Given the description of an element on the screen output the (x, y) to click on. 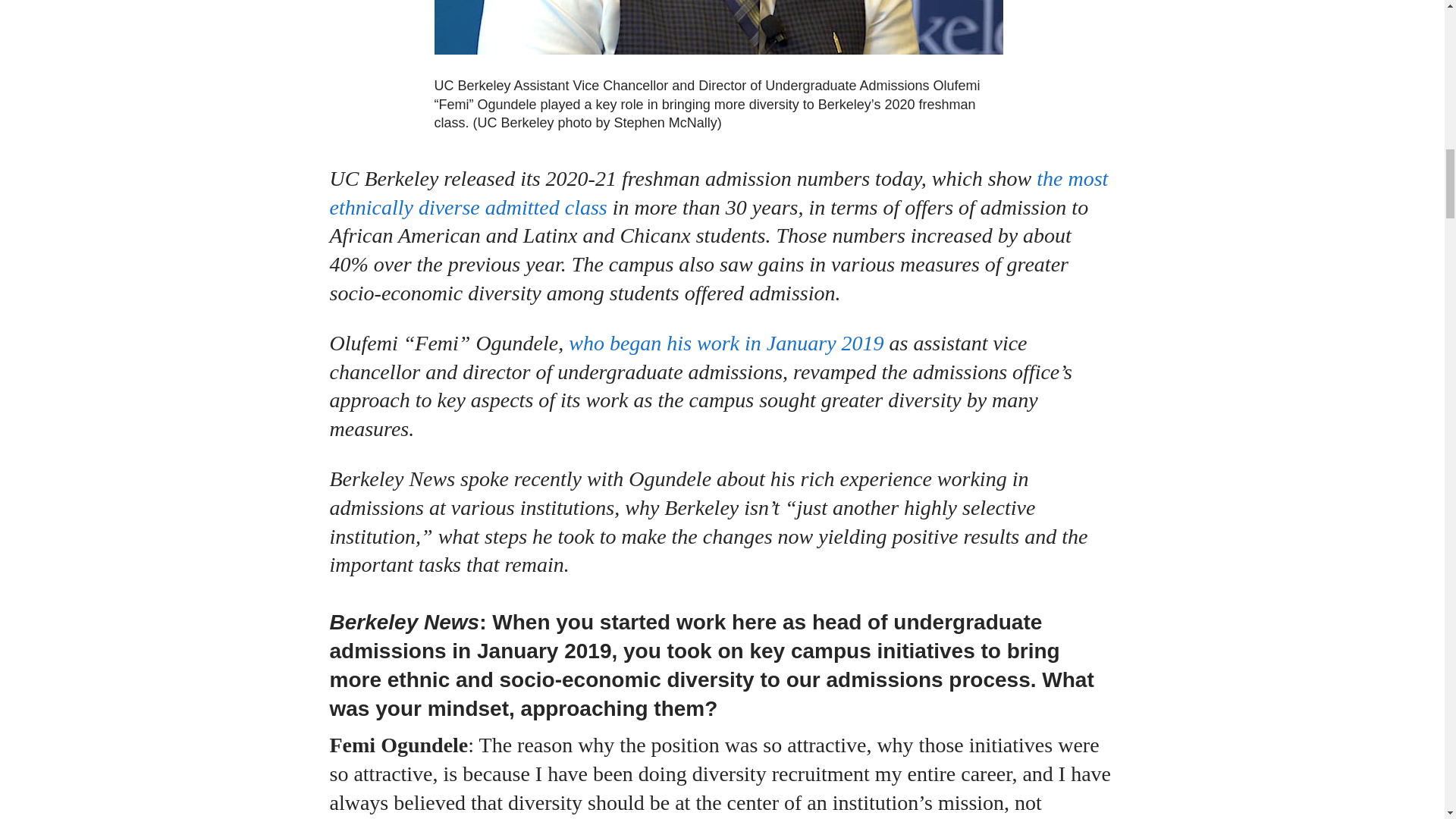
who began his work in January 2019 (726, 342)
the most ethnically diverse admitted class (718, 193)
